Given the description of an element on the screen output the (x, y) to click on. 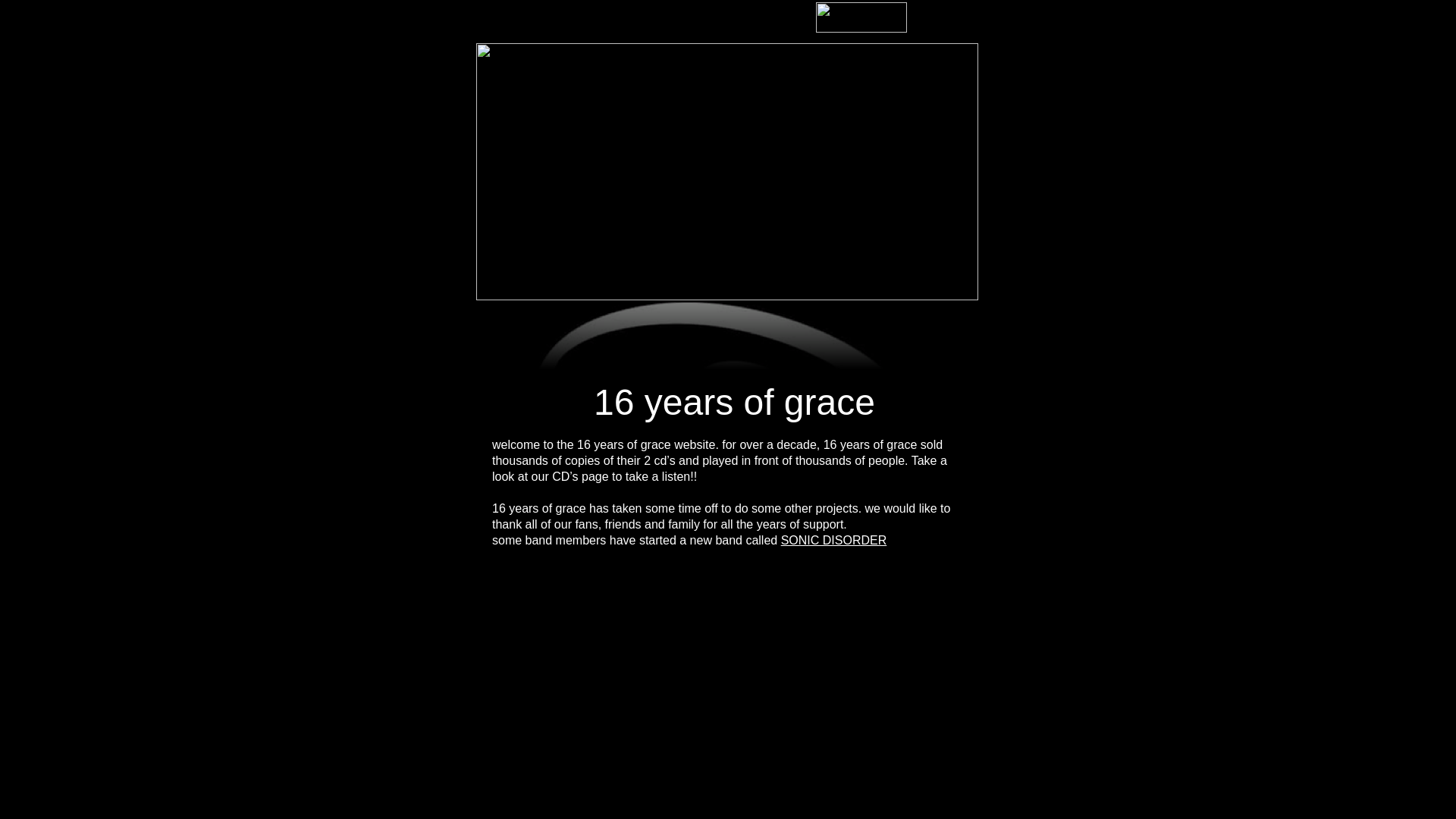
SONIC DISORDER Element type: text (834, 539)
https://www.facebook.com/16yearsofgrace Element type: hover (860, 31)
